Given the description of an element on the screen output the (x, y) to click on. 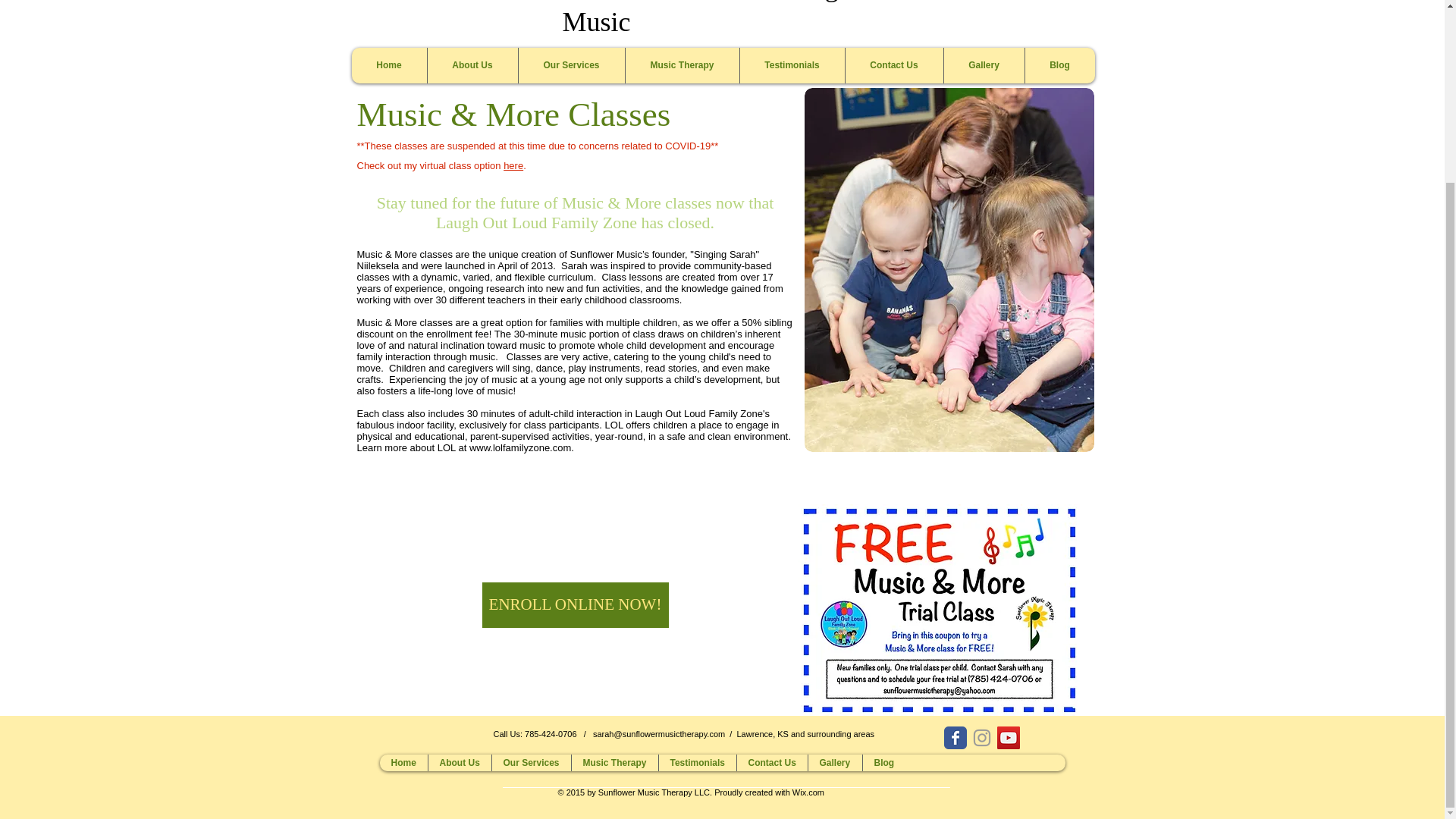
Our Services (531, 762)
Home (389, 65)
Contact Us (893, 65)
Home (402, 762)
Music Therapy (614, 762)
Contact Us (770, 762)
Gallery (984, 65)
Gallery (833, 762)
About Us (471, 65)
here (512, 165)
